Given the description of an element on the screen output the (x, y) to click on. 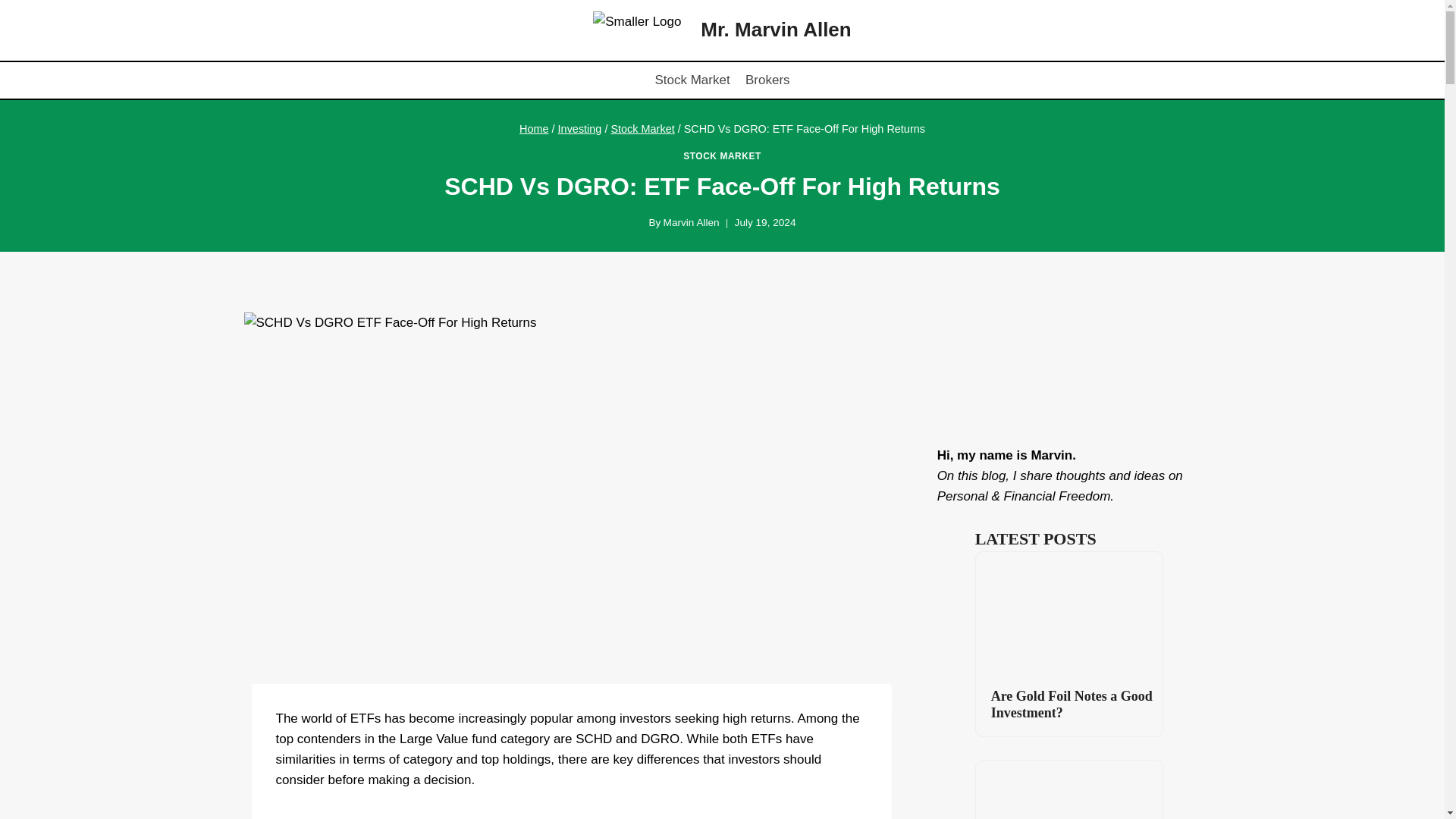
Brokers (767, 80)
Home (533, 128)
Stock Market (692, 80)
Mr. Marvin Allen (721, 30)
Marvin Allen (691, 222)
Investing (579, 128)
between SCHD vs (556, 818)
Stock Market (642, 128)
STOCK MARKET (721, 155)
Are Gold Foil Notes a Good Investment? 17 (1068, 614)
